Given the description of an element on the screen output the (x, y) to click on. 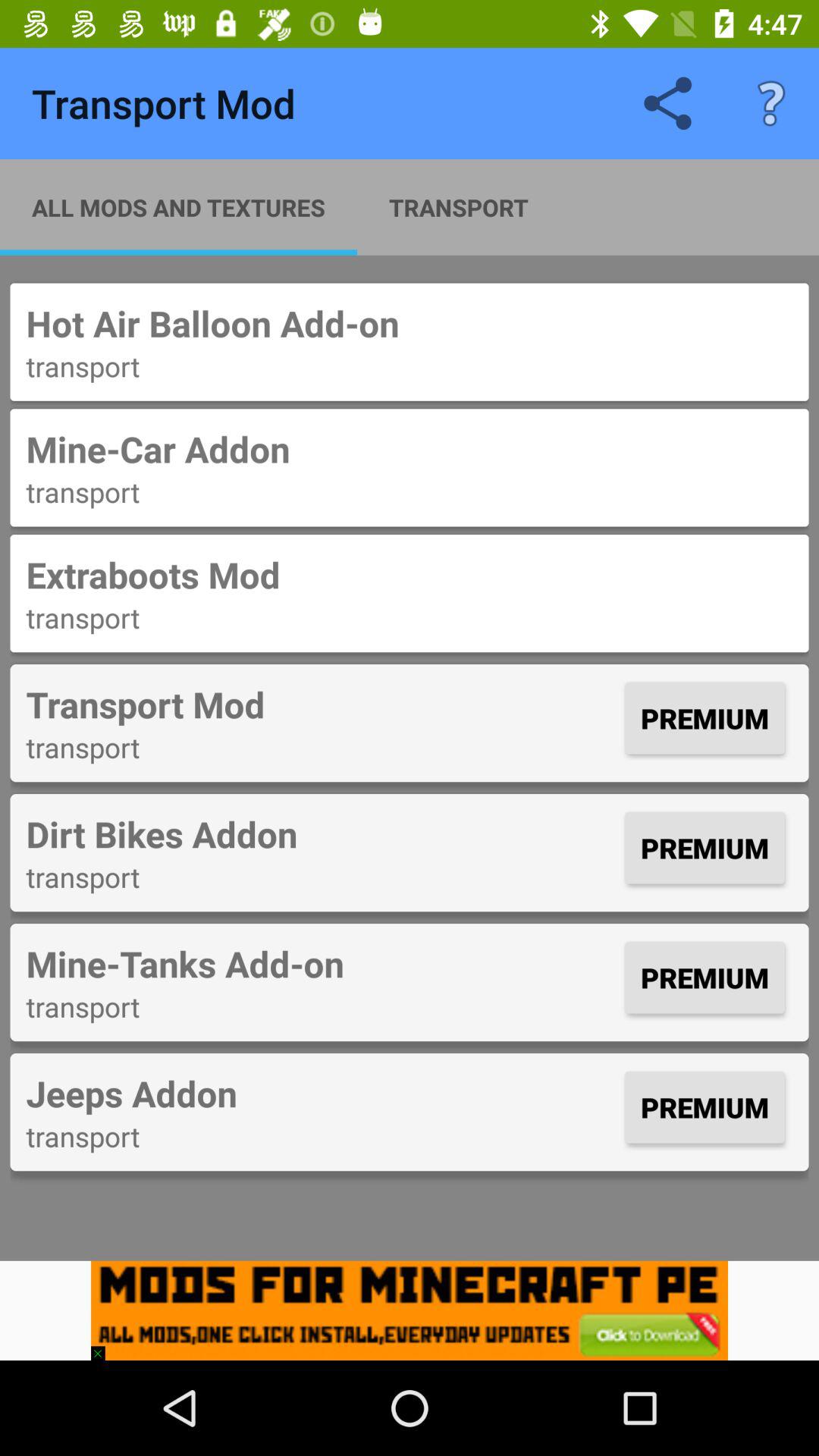
open item above the transport icon (409, 323)
